Given the description of an element on the screen output the (x, y) to click on. 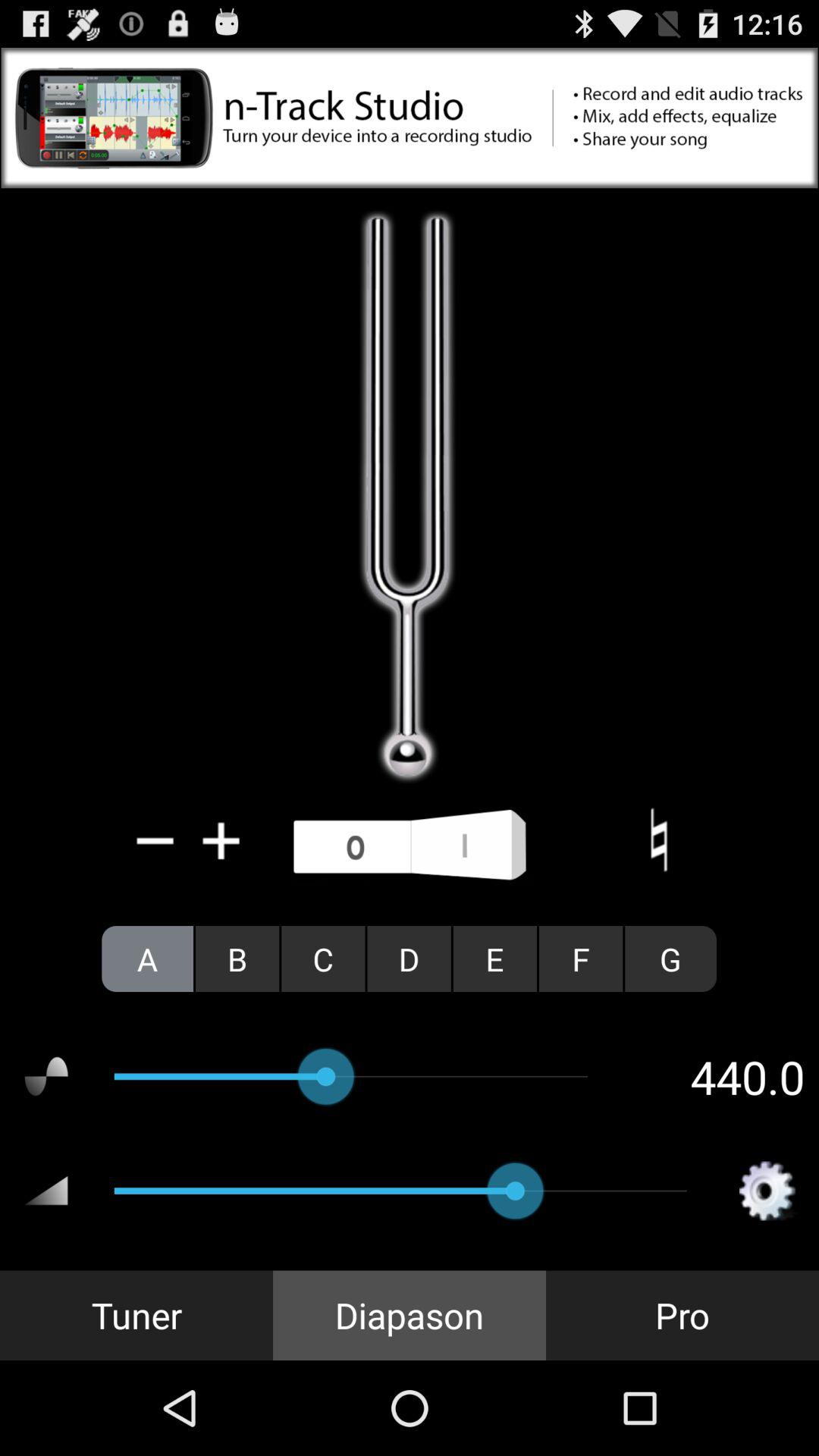
turn on icon to the left of the g (580, 958)
